Given the description of an element on the screen output the (x, y) to click on. 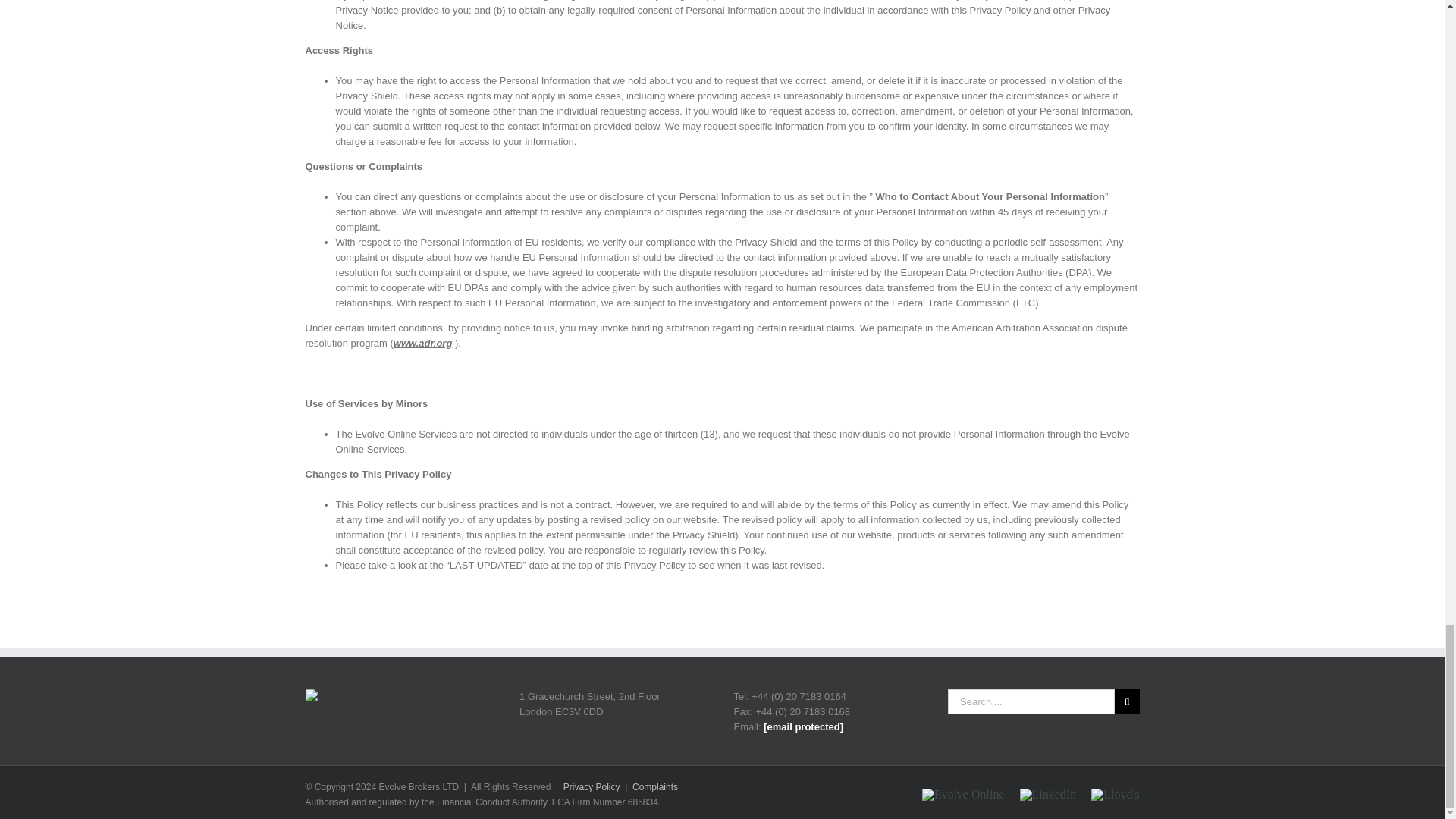
Lloyd's (1114, 794)
Evolve Online (962, 794)
LinkedIn (1048, 794)
Complaints (654, 787)
Lloyd's (1114, 794)
Privacy Policy (591, 787)
LinkedIn (1048, 794)
Evolve Online (962, 794)
